Given the description of an element on the screen output the (x, y) to click on. 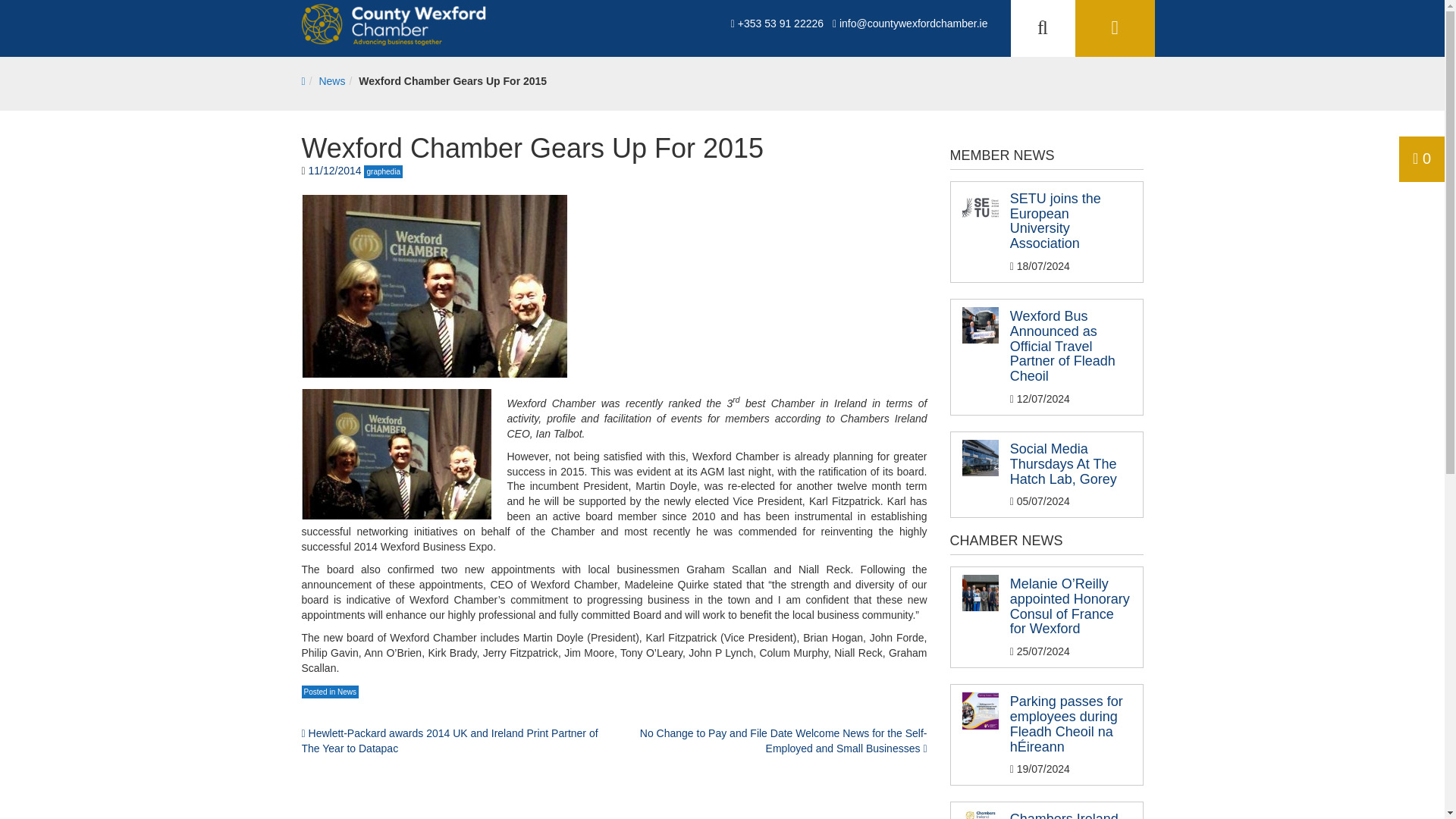
Send Message (937, 375)
County Wexford Chamber (398, 24)
0 (1422, 158)
Wexford Chamber Gears Up For 2015 (452, 80)
